Given the description of an element on the screen output the (x, y) to click on. 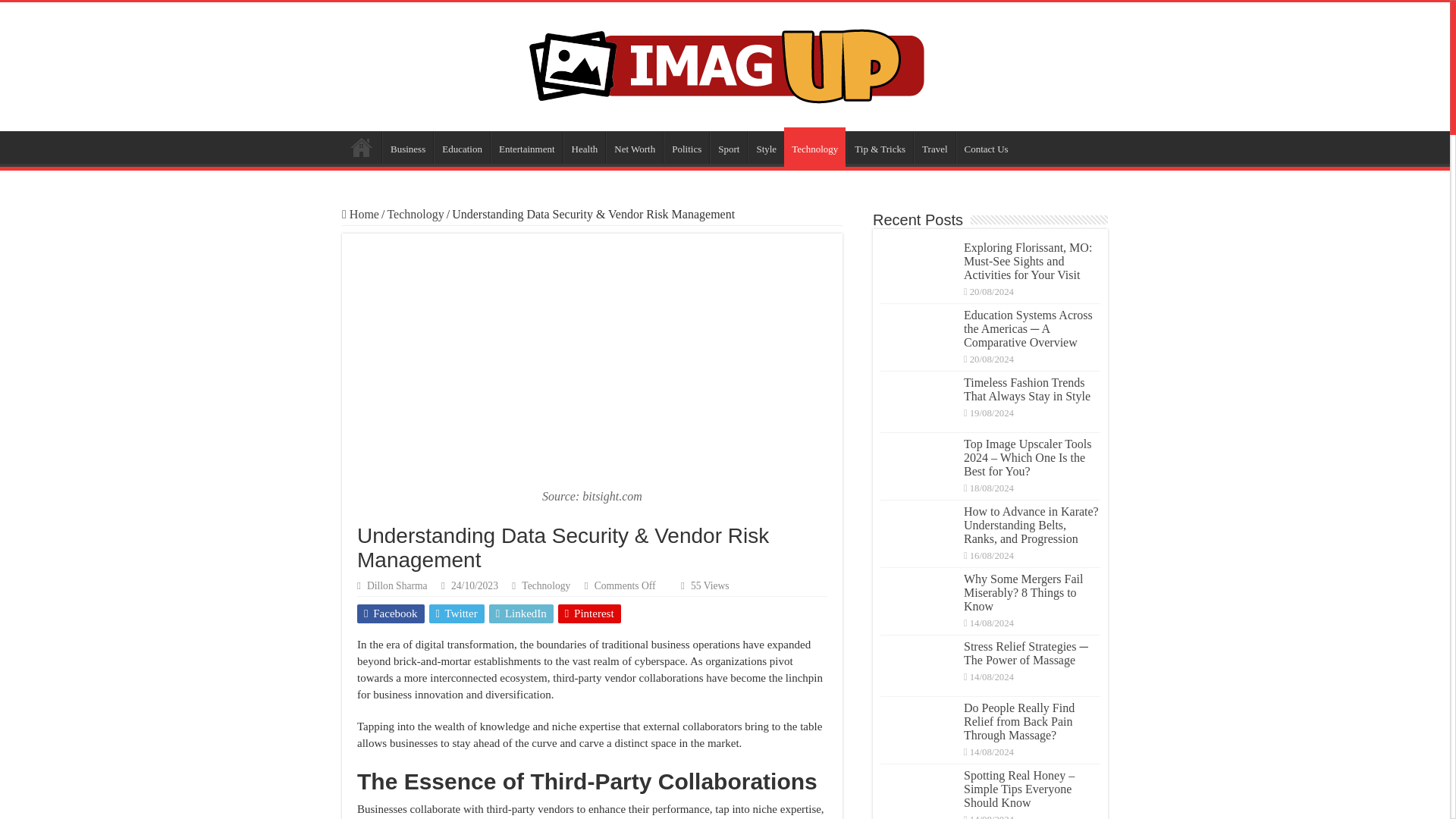
Home (361, 146)
Travel (934, 146)
LinkedIn (521, 613)
Technology (545, 585)
Facebook (390, 613)
Imagup (724, 63)
Education (461, 146)
Style (766, 146)
Net Worth (633, 146)
Technology (415, 214)
